Given the description of an element on the screen output the (x, y) to click on. 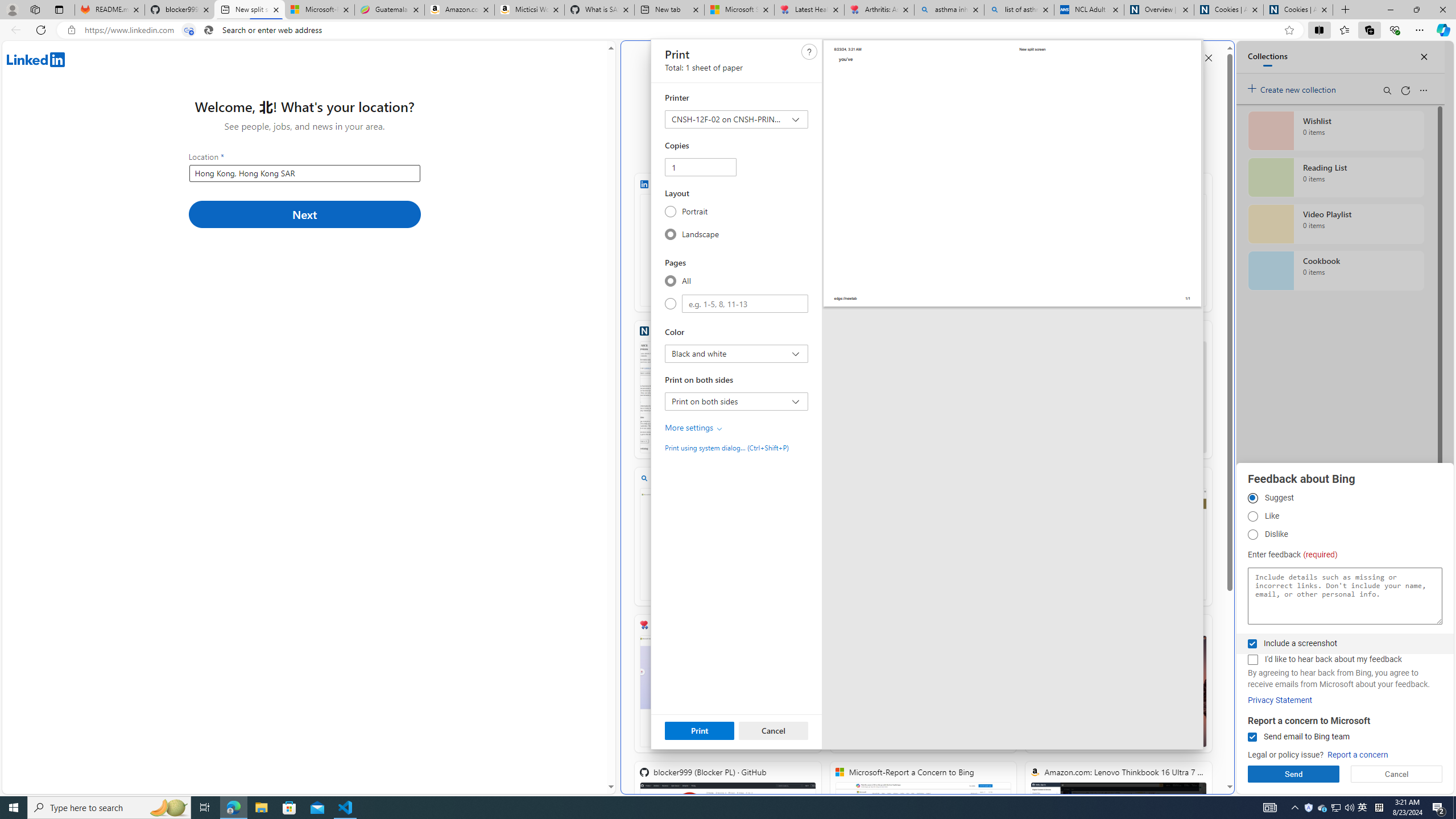
Landscape (670, 233)
